Given the description of an element on the screen output the (x, y) to click on. 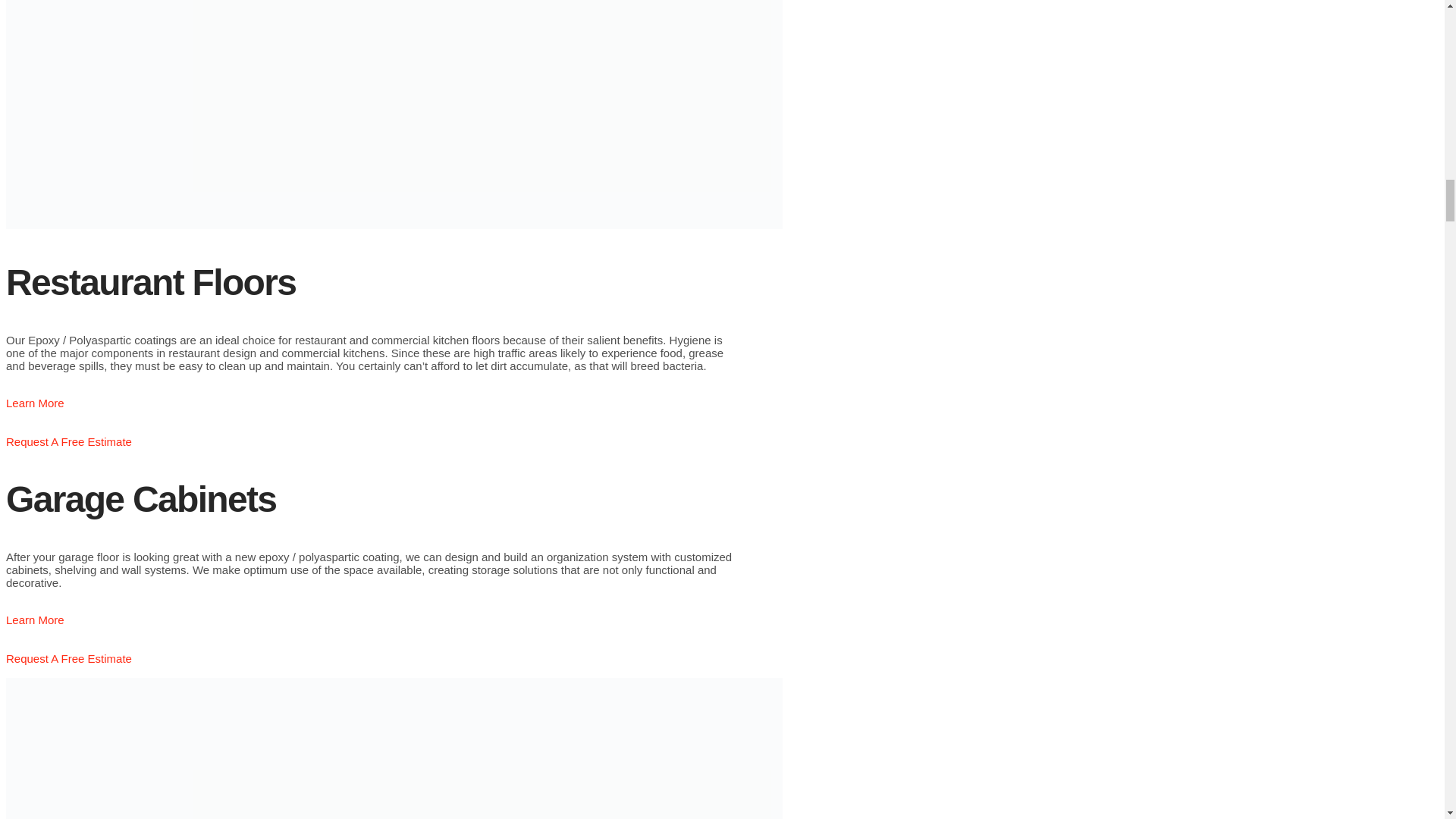
Learn More (34, 626)
Learn More (34, 409)
Request A Free Estimate (68, 664)
Request A Free Estimate (68, 447)
